Given the description of an element on the screen output the (x, y) to click on. 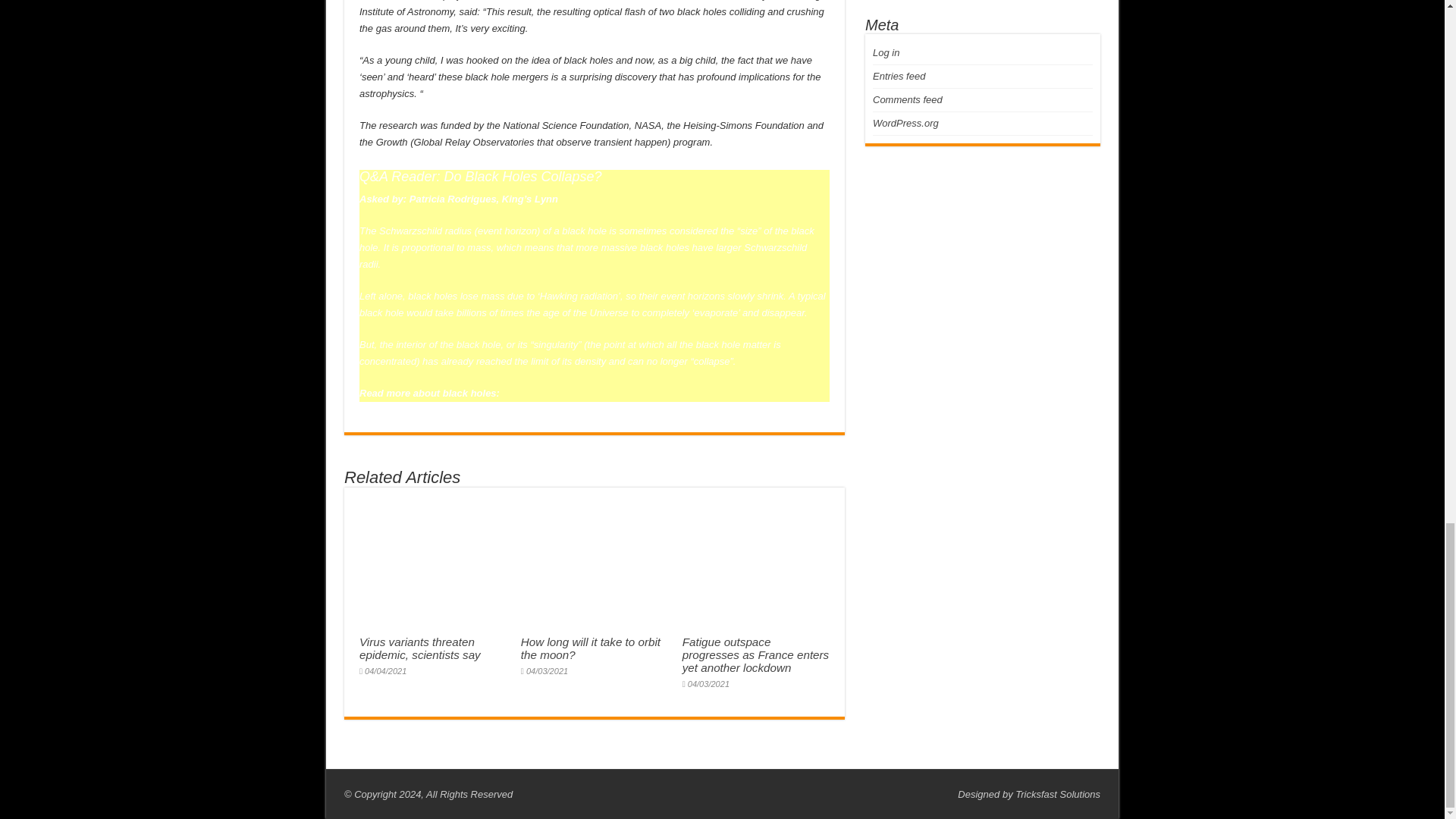
Virus variants threaten epidemic, scientists say (419, 647)
How long will it take to orbit the moon? (591, 647)
